Given the description of an element on the screen output the (x, y) to click on. 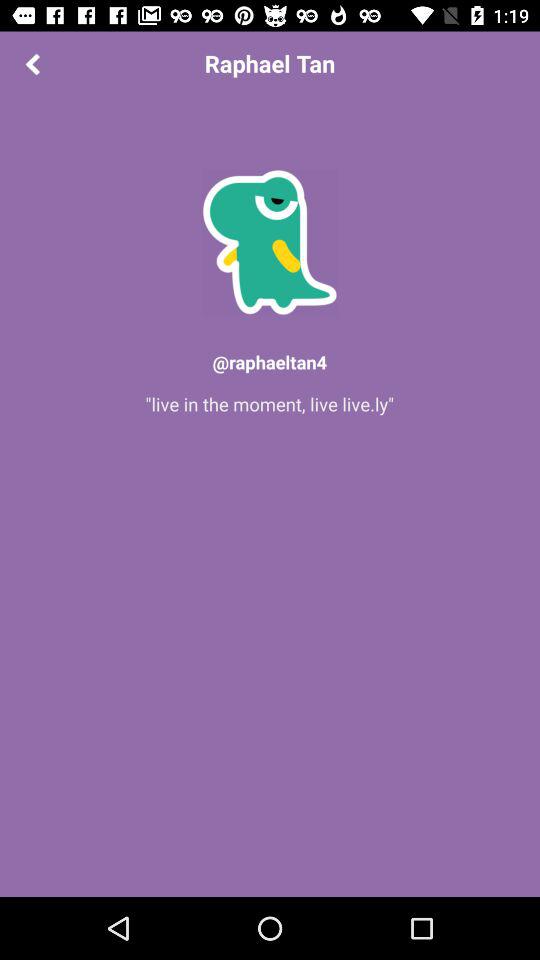
go back (32, 63)
